Given the description of an element on the screen output the (x, y) to click on. 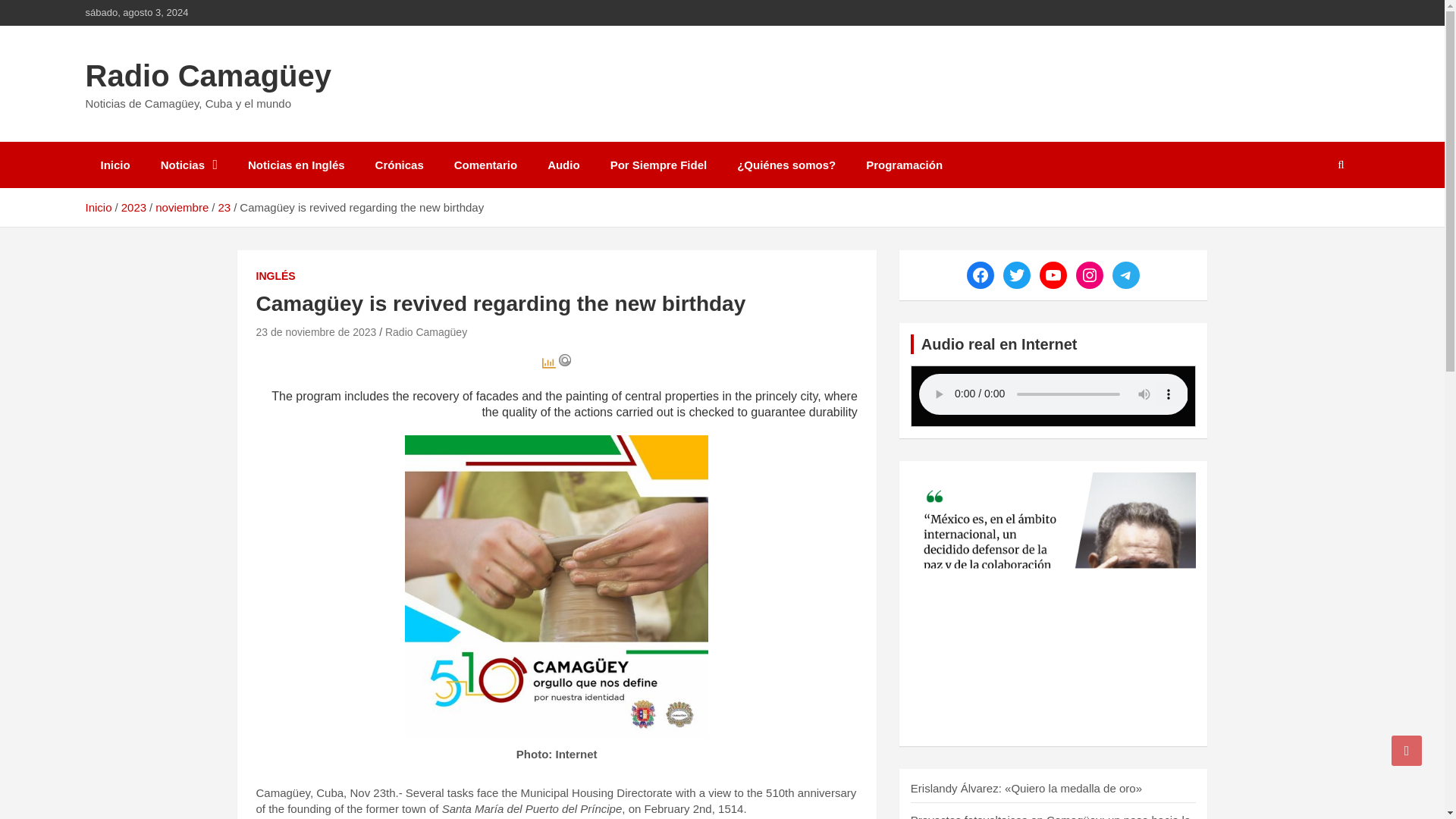
Audio (563, 164)
Inicio (98, 206)
YouTube (1053, 275)
2023 (133, 206)
Twitter (1016, 275)
23 de noviembre de 2023 (316, 331)
Inicio (114, 164)
Noticias (188, 164)
Facebook (980, 275)
noviembre (181, 206)
